Given the description of an element on the screen output the (x, y) to click on. 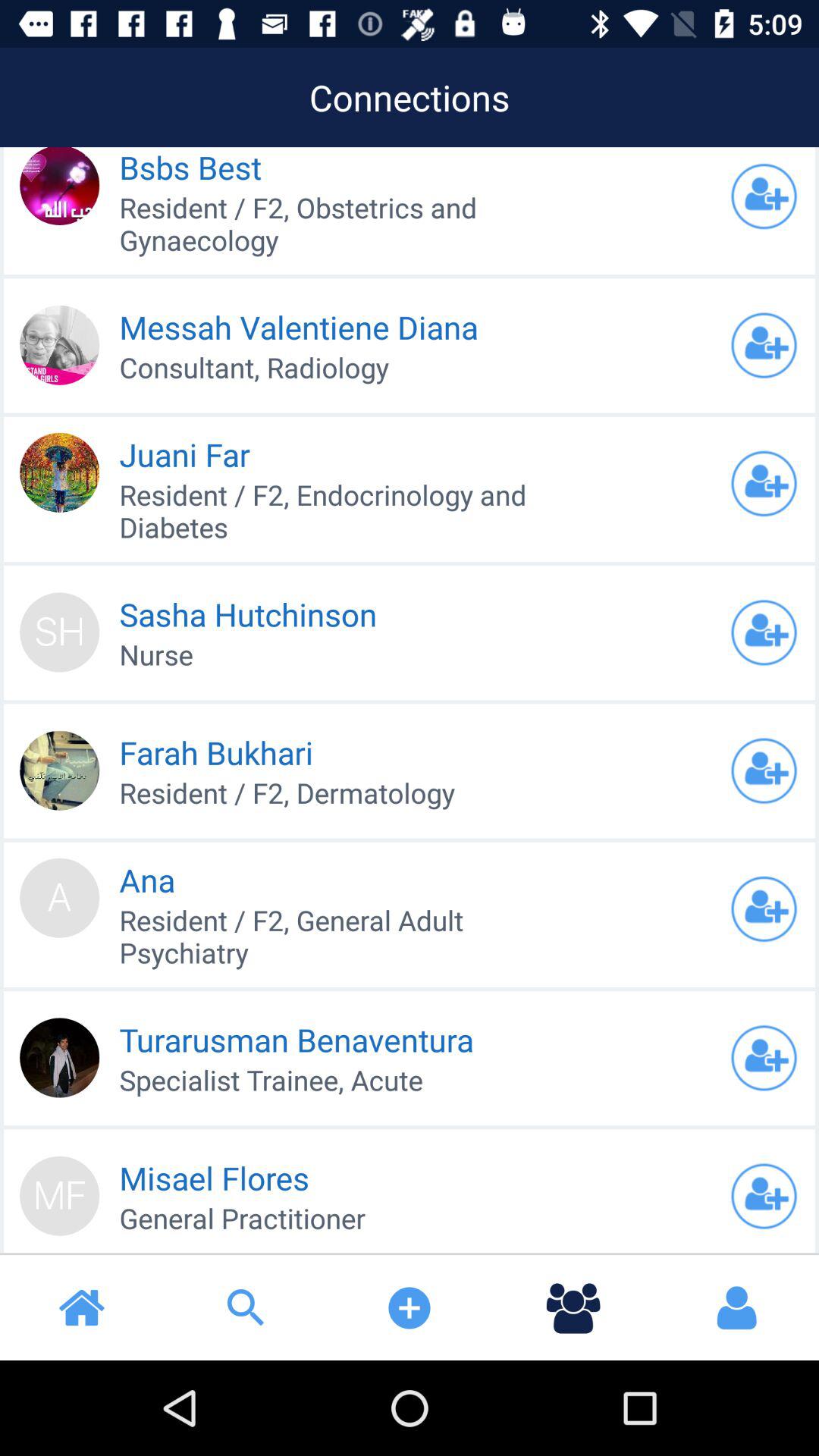
add tuarusman benaventura (764, 1058)
